Given the description of an element on the screen output the (x, y) to click on. 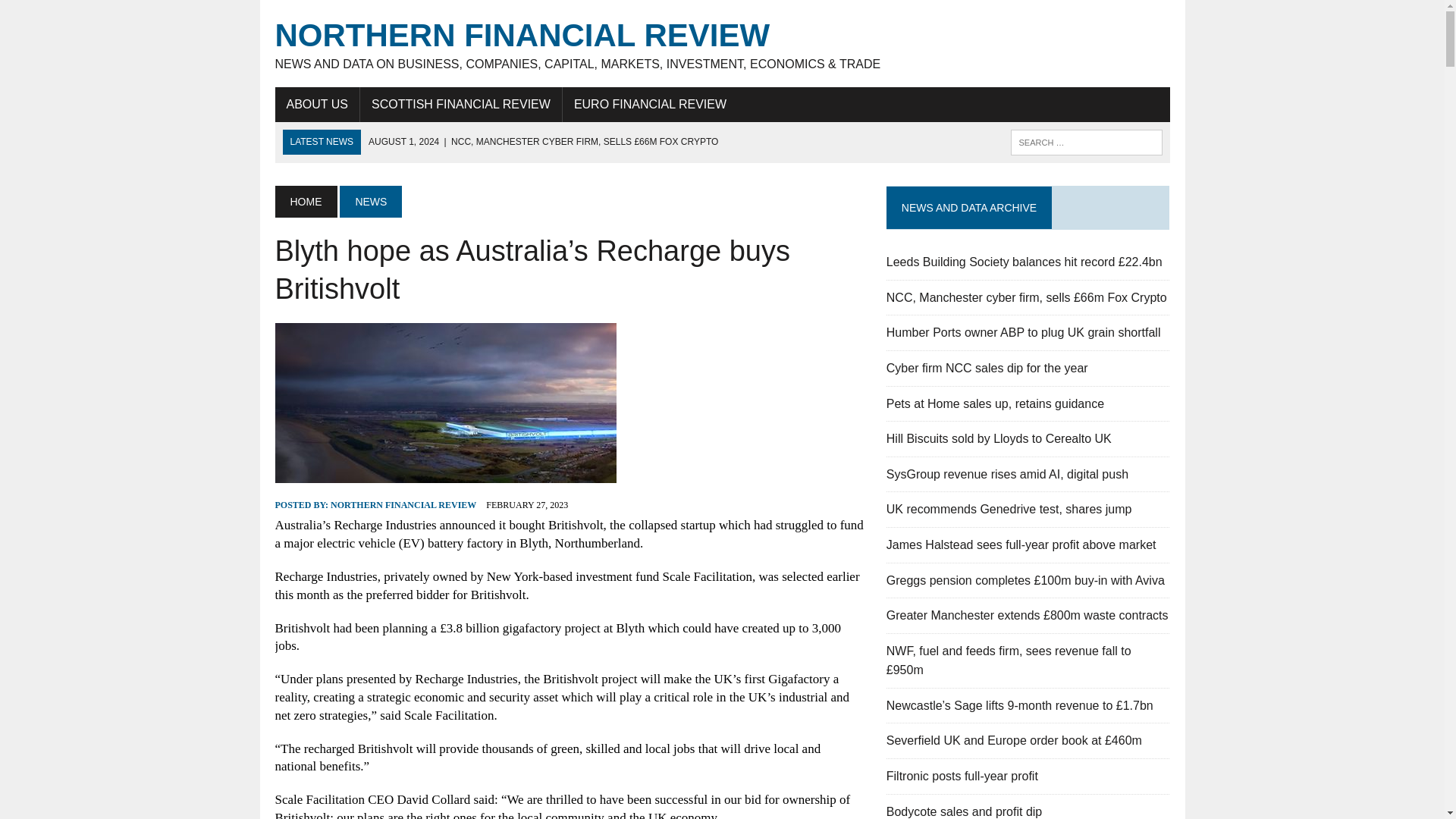
Humber Ports owner ABP to plug UK grain shortfall (1023, 332)
NEWS (370, 201)
Pets at Home sales up, retains guidance (994, 403)
SCOTTISH FINANCIAL REVIEW (460, 104)
HOME (305, 201)
Northern Financial Review (722, 43)
Search (75, 14)
Hill Biscuits sold by Lloyds to Cerealto UK (999, 438)
NORTHERN FINANCIAL REVIEW (403, 504)
Cyber firm NCC sales dip for the year (986, 367)
ABOUT US (317, 104)
SysGroup revenue rises amid AI, digital push (1007, 473)
UK recommends Genedrive test, shares jump (1009, 508)
EURO FINANCIAL REVIEW (650, 104)
James Halstead sees full-year profit above market (1021, 544)
